Given the description of an element on the screen output the (x, y) to click on. 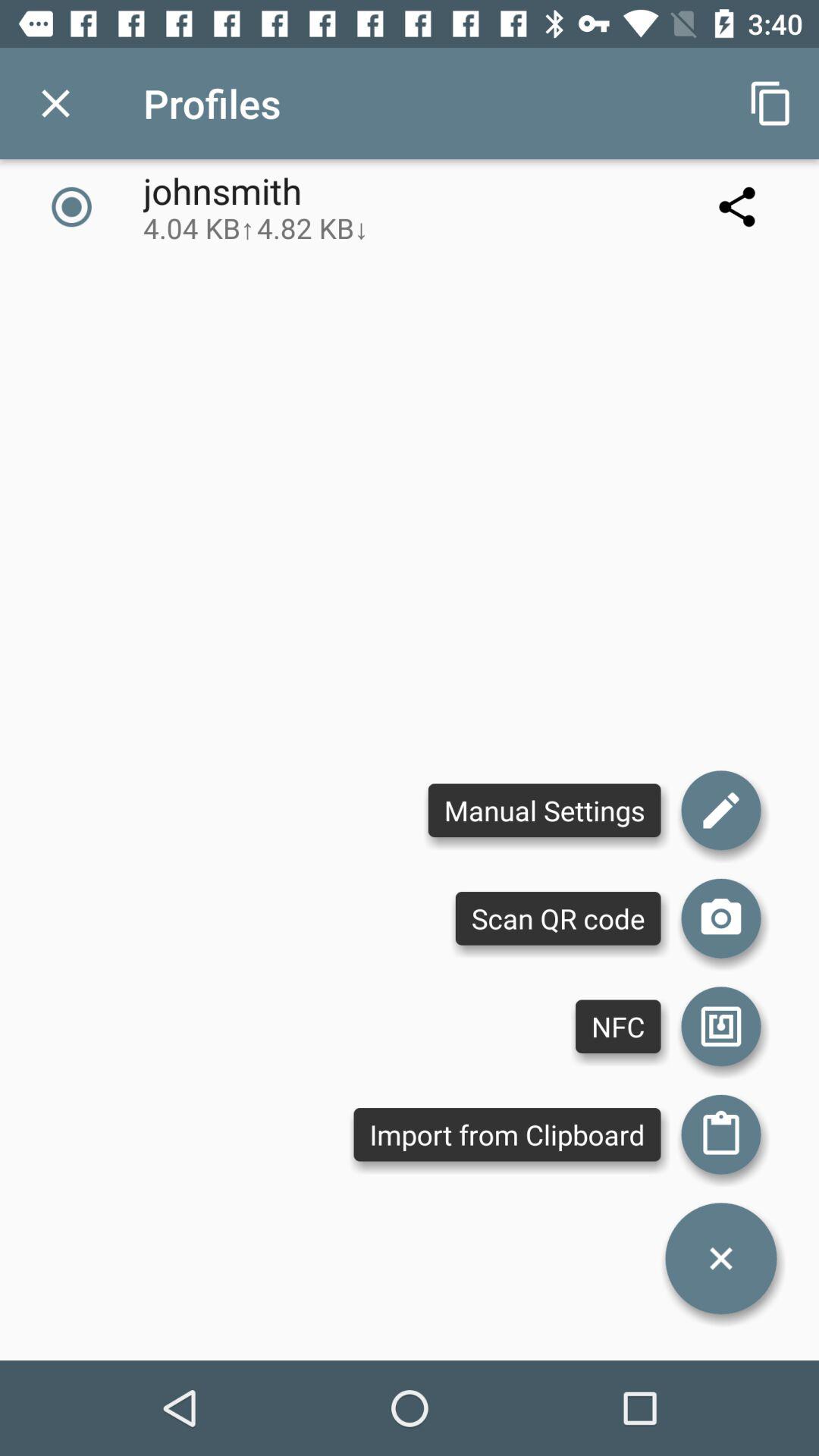
press item above the johnsmith 4 04 (55, 103)
